Given the description of an element on the screen output the (x, y) to click on. 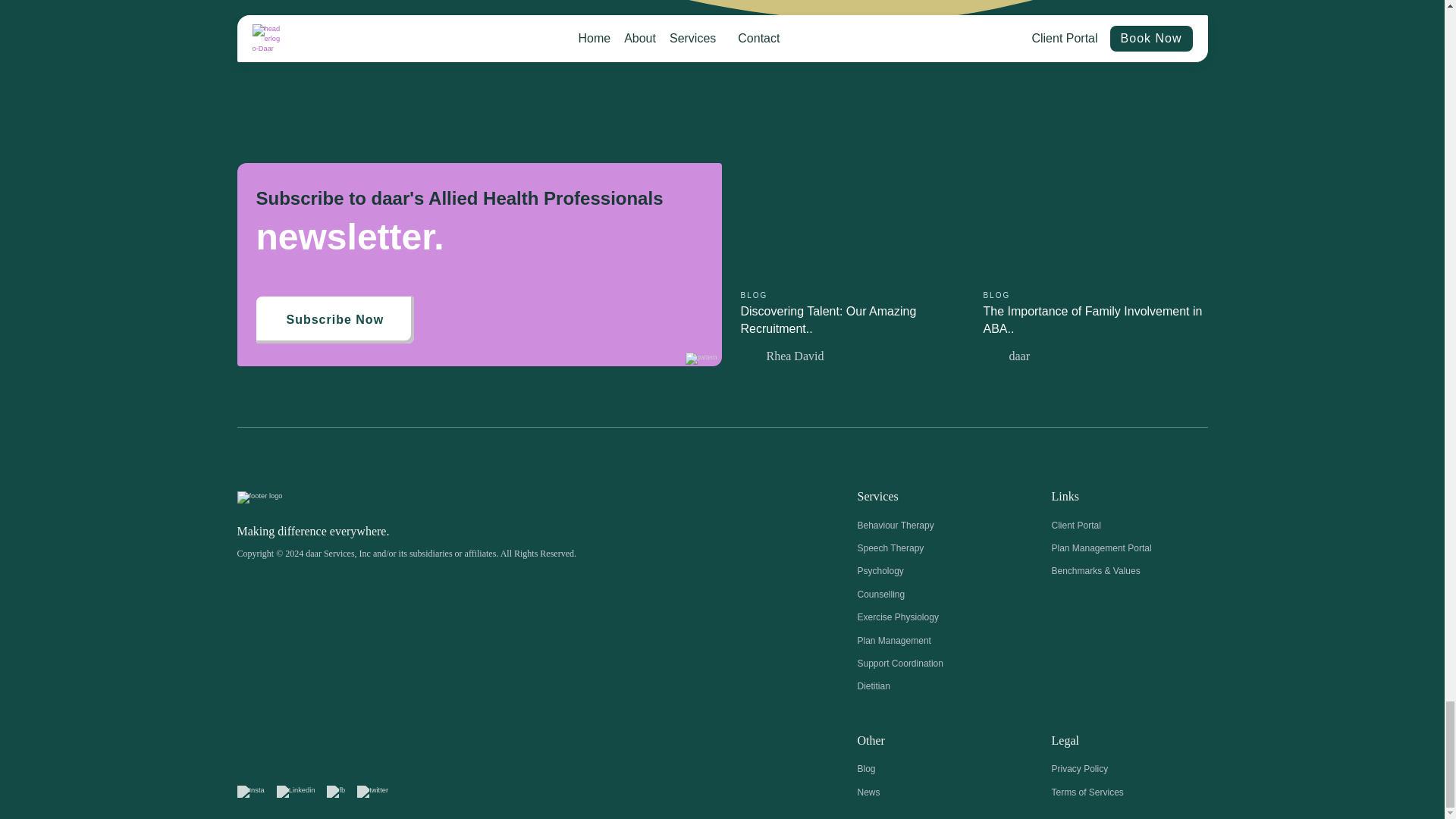
Subscribe Now (335, 319)
Discovering Talent: Our Amazing Recruitment.. (827, 319)
daar (1108, 356)
The Importance of Family Involvement in ABA.. (1092, 319)
BLOG (996, 295)
BLOG (753, 295)
Rhea David (864, 356)
